Given the description of an element on the screen output the (x, y) to click on. 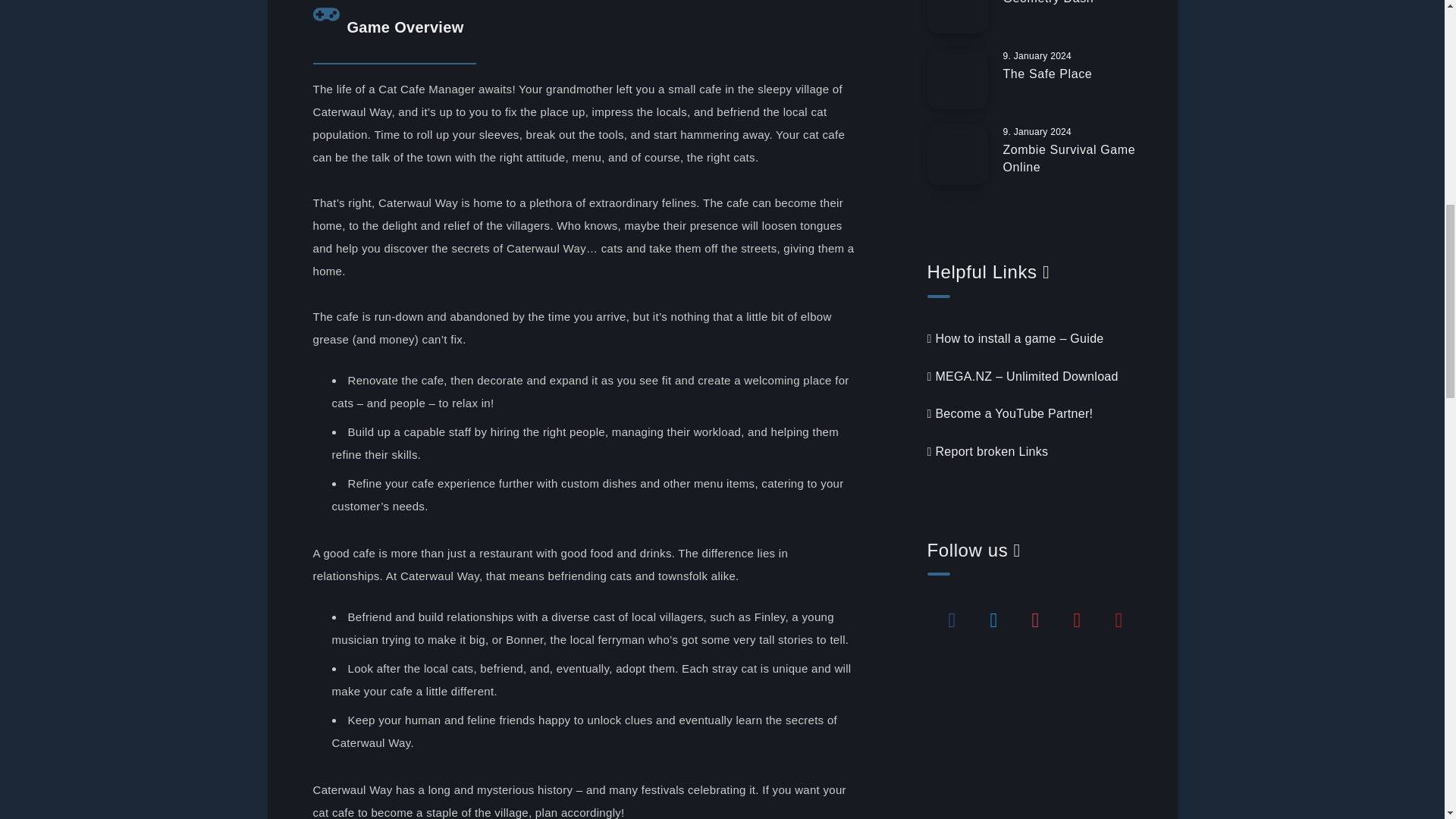
Geometry Dash (1048, 4)
The Safe Place (1047, 75)
Zombie Survival Game Online (1069, 160)
